Given the description of an element on the screen output the (x, y) to click on. 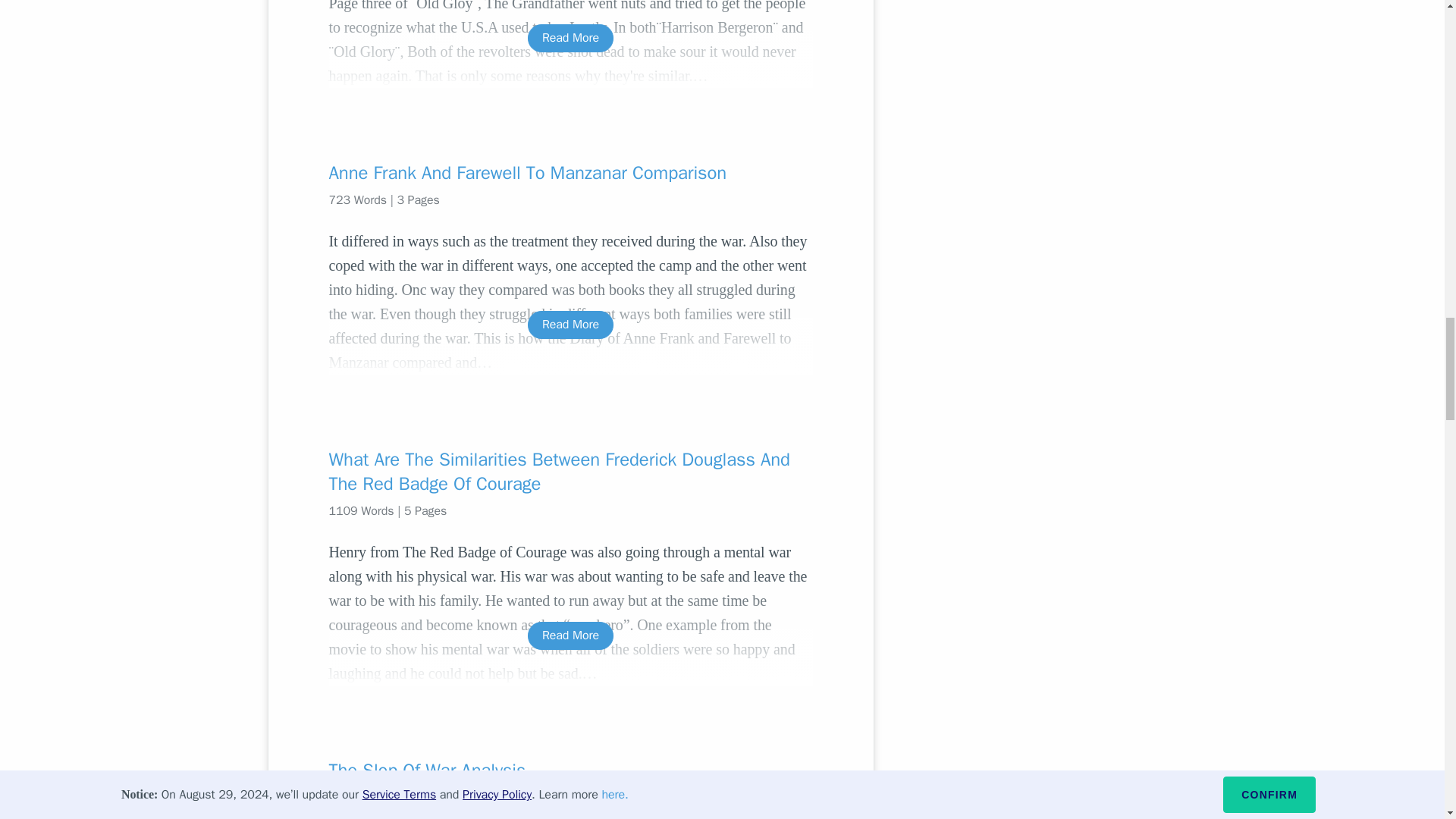
Read More (569, 635)
Read More (569, 38)
Anne Frank And Farewell To Manzanar Comparison (570, 172)
Read More (569, 325)
The Slop Of War Analysis (570, 770)
